Given the description of an element on the screen output the (x, y) to click on. 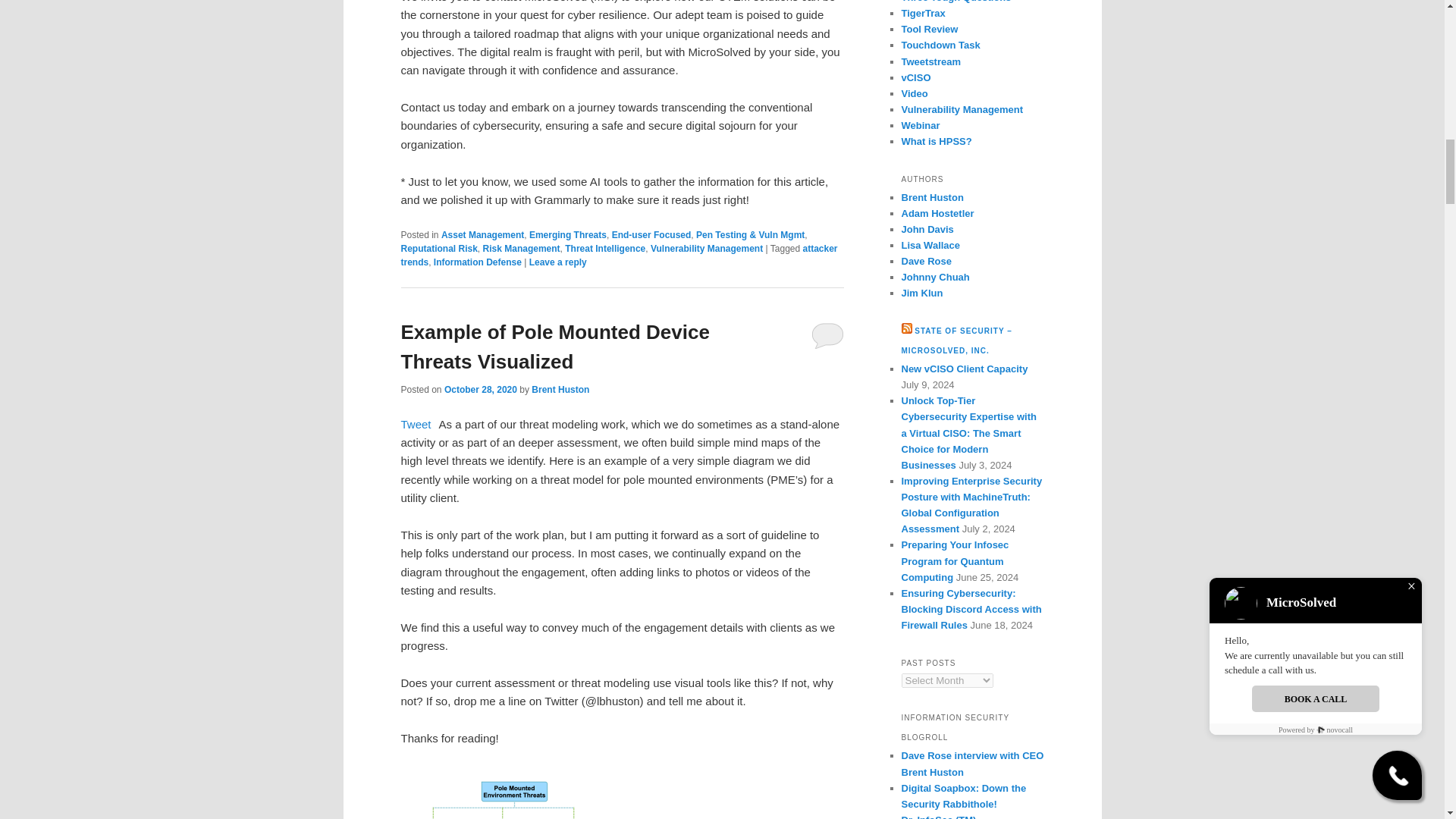
Vulnerability Management (706, 248)
View all posts by Brent Huston (560, 389)
Example of Pole Mounted Device Threats Visualized (554, 347)
Information Defense (477, 262)
Risk Management (521, 248)
4:40 pm (480, 389)
Asset Management (482, 235)
Pole Mounted Environment Threats.png (513, 795)
attacker trends (618, 255)
Leave a reply (557, 262)
Reputational Risk (438, 248)
Threat Intelligence (604, 248)
End-user Focused (651, 235)
Emerging Threats (568, 235)
